Given the description of an element on the screen output the (x, y) to click on. 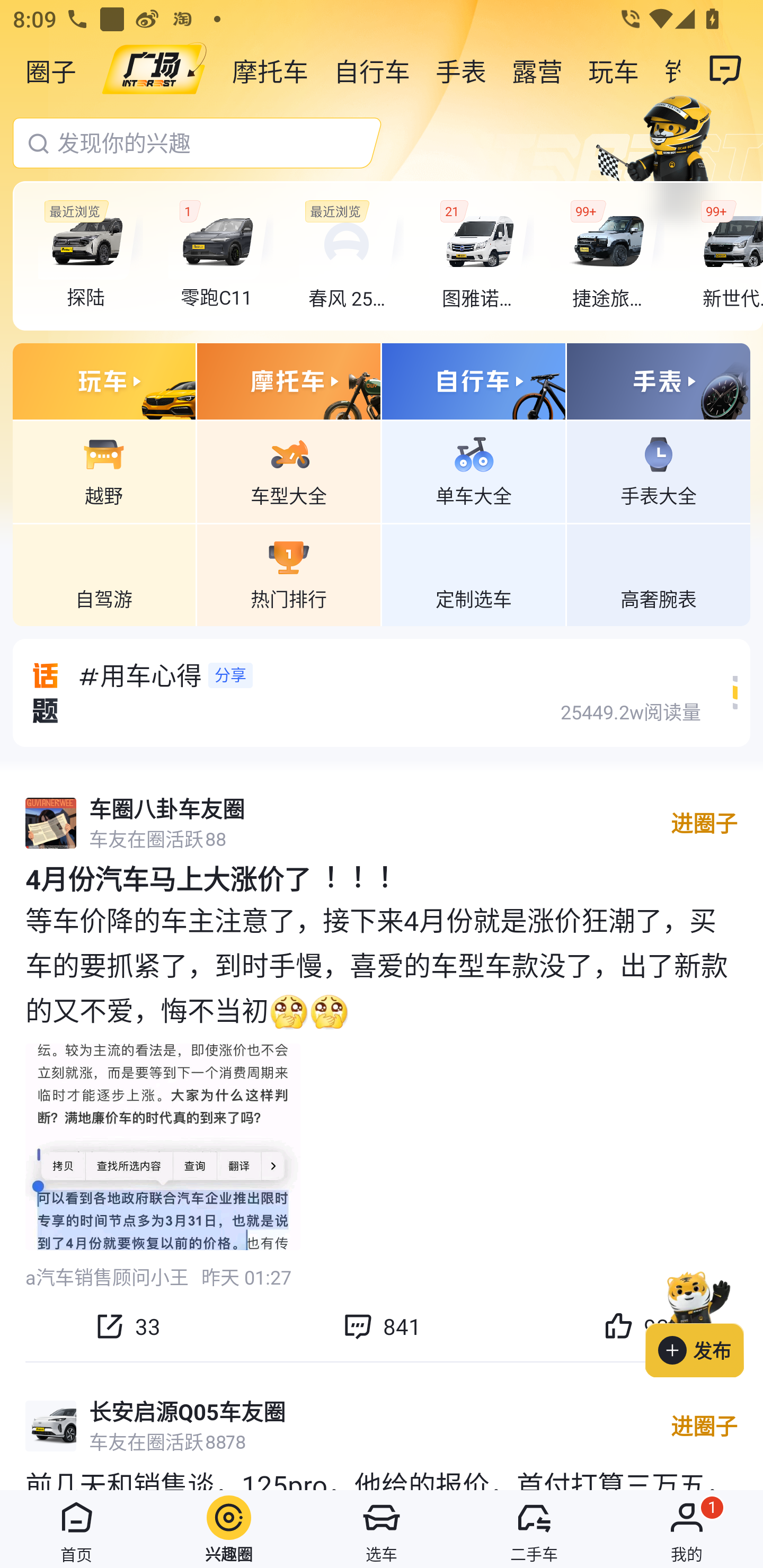
圈子 (50, 69)
image (153, 69)
摩托车 (269, 69)
自行车 (372, 69)
手表 (460, 69)
露营 (537, 69)
玩车 (613, 69)
 (726, 69)
探陆 (90, 256)
1 零跑C11 (220, 256)
春风 250SR (351, 256)
21 图雅诺智蓝 (481, 256)
99+ 捷途旅行者 (611, 256)
99+ 新世代全顺 (726, 256)
越野 (103, 471)
车型大全 (288, 471)
单车大全 (473, 471)
手表大全 (658, 471)
自驾游 (103, 574)
热门排行 (288, 574)
定制选车 (473, 574)
高奢腕表 (658, 574)
 用车心得 分享 25449.2w阅读量 (381, 692)
 用车心得 分享 25449.2w阅读量 (395, 692)
车圈八卦车友圈 车友在圈活跃 88 进圈子 (381, 822)
发布 (704, 1320)
 33 (127, 1326)
 841 (381, 1326)
93 (635, 1326)
长安启源Q05车友圈 车友在圈活跃 8878 进圈子 (381, 1425)
 首页 (76, 1528)
兴趣圈 (228, 1528)
 选车 (381, 1528)
 二手车 (533, 1528)
 我的 (686, 1528)
